Given the description of an element on the screen output the (x, y) to click on. 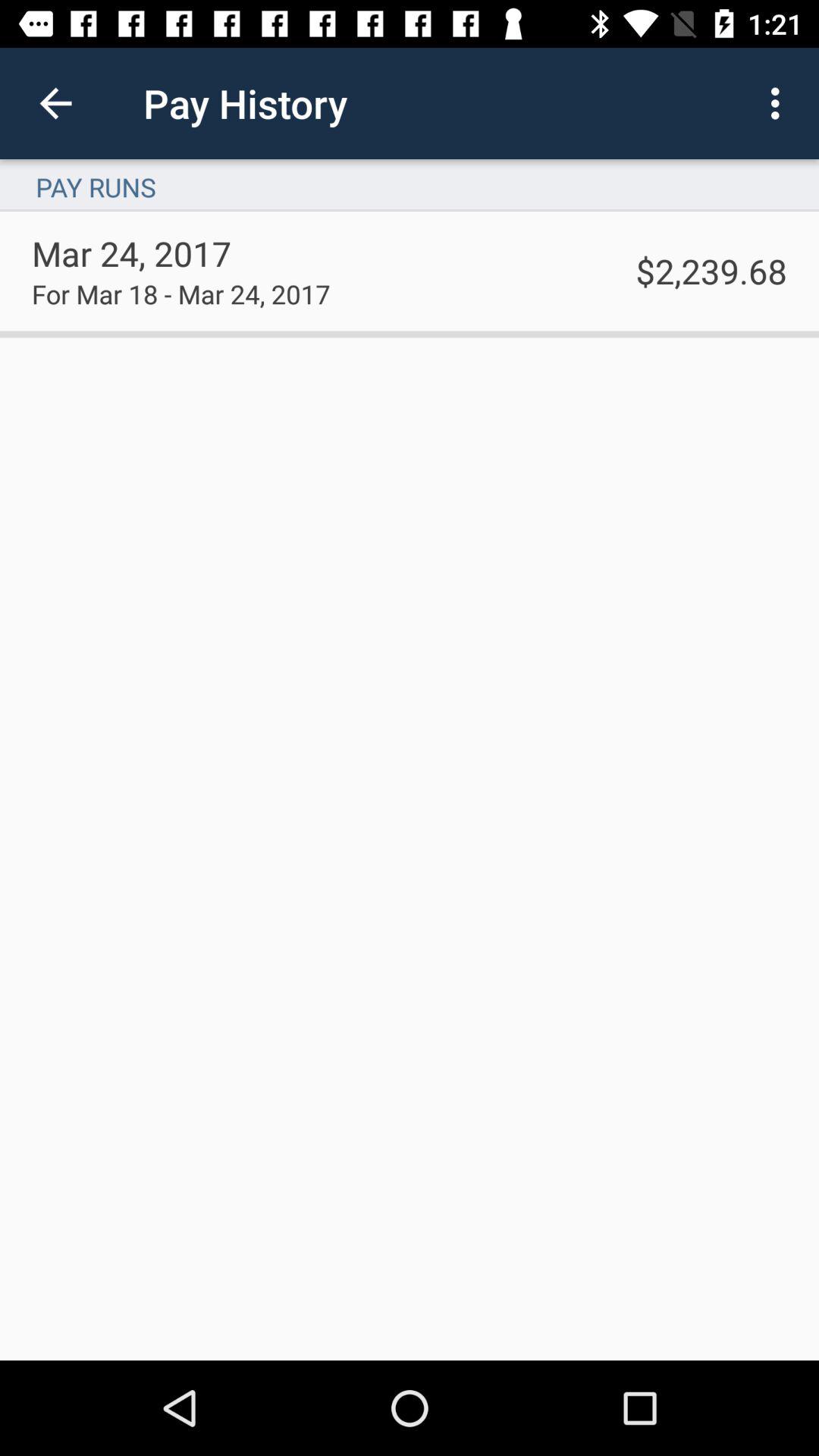
jump until $2,239.68 (711, 270)
